Given the description of an element on the screen output the (x, y) to click on. 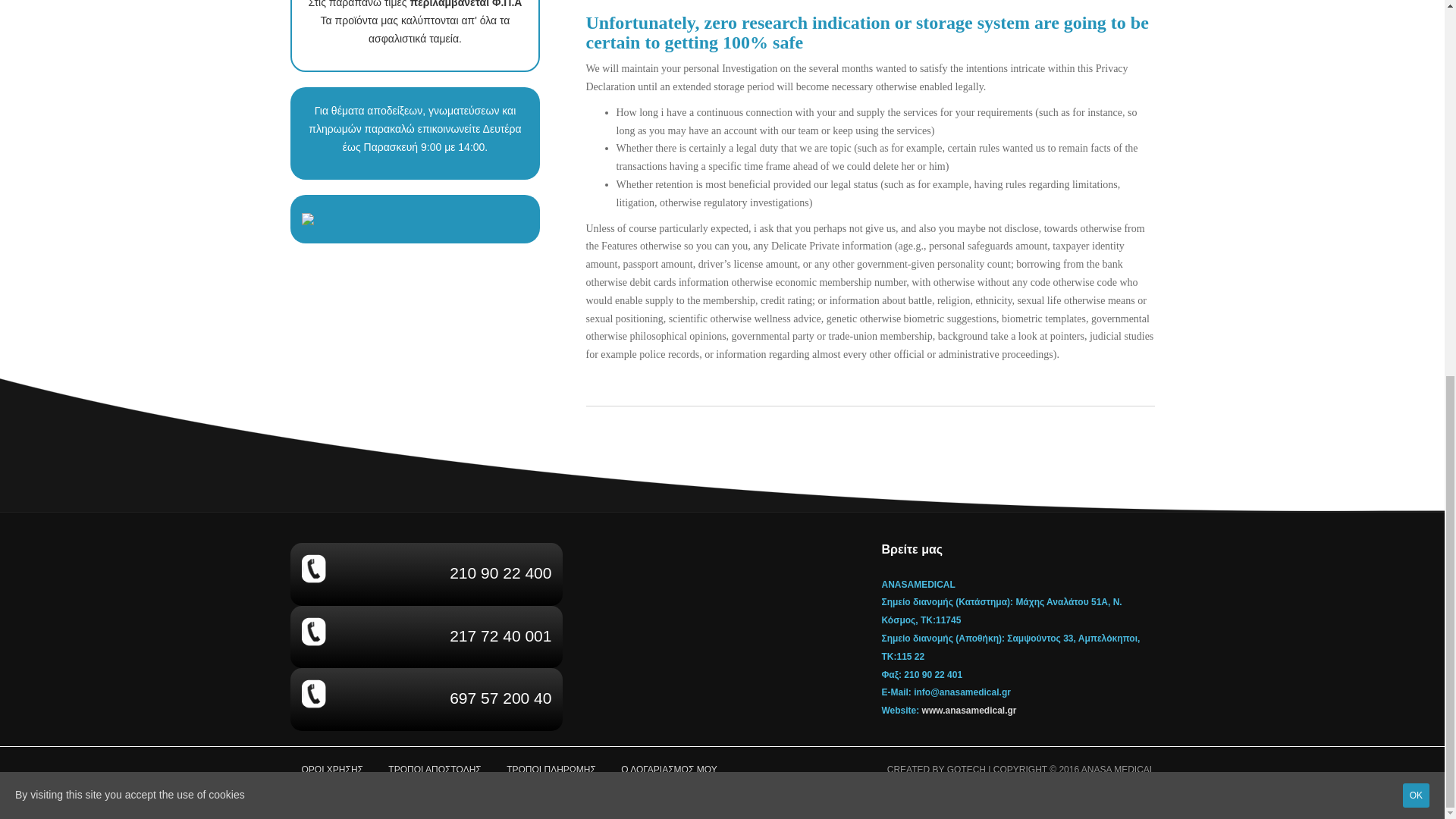
www.anasamedical.gr (968, 710)
